Given the description of an element on the screen output the (x, y) to click on. 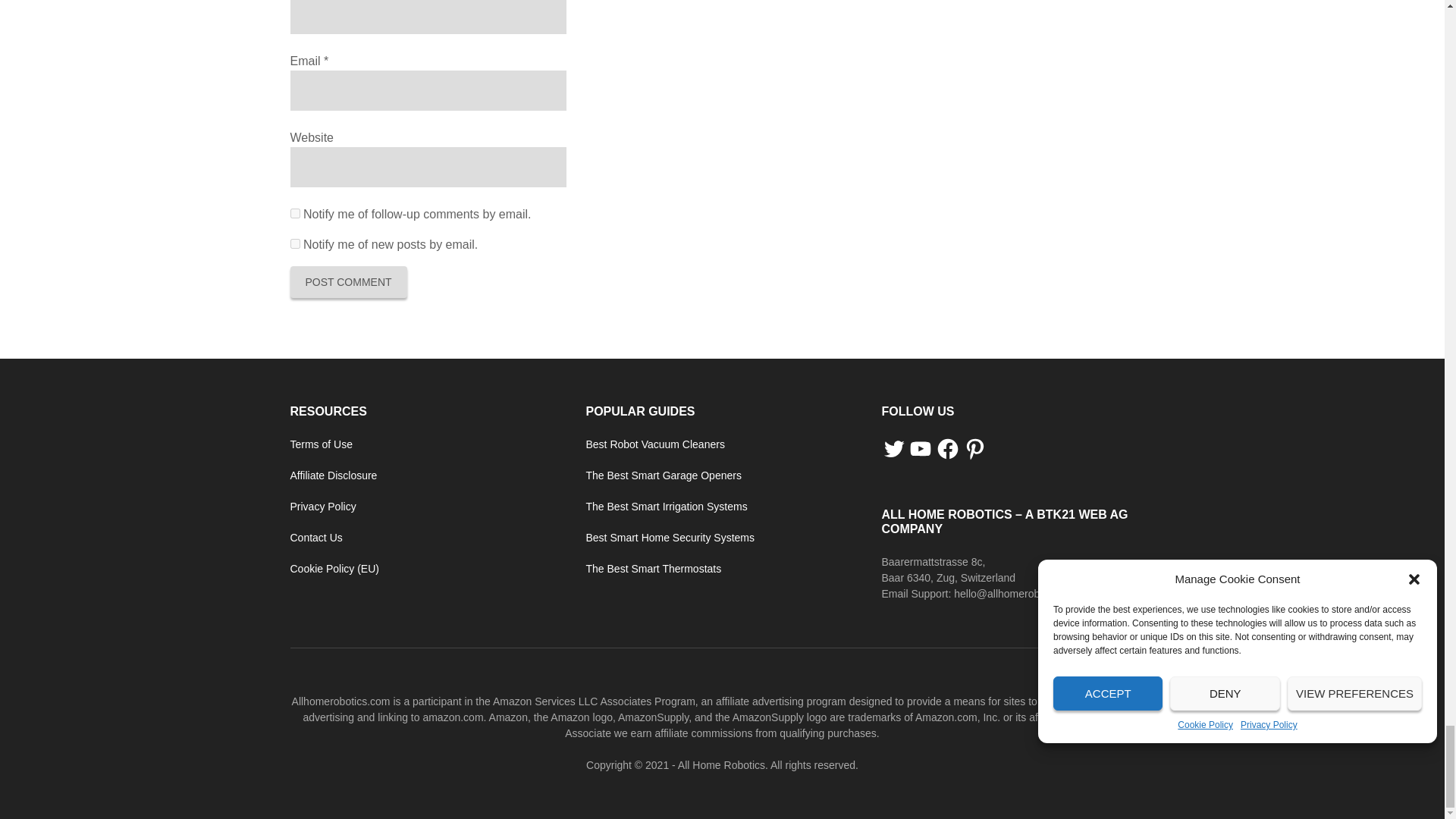
subscribe (294, 243)
subscribe (294, 213)
Post Comment (347, 282)
